Given the description of an element on the screen output the (x, y) to click on. 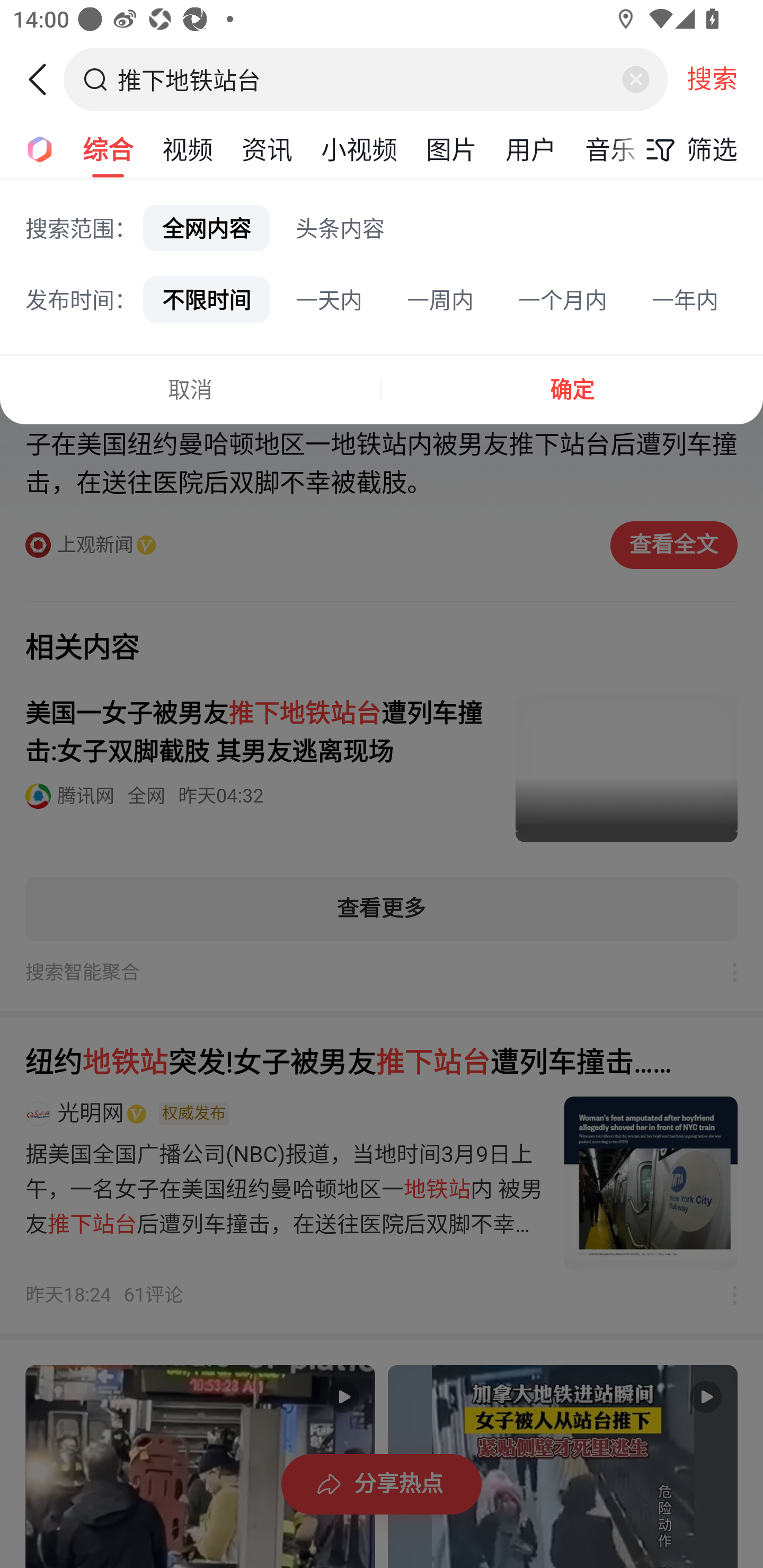
搜索框，推下地铁站台 (366, 79)
搜索 (711, 79)
返回 (44, 79)
清除 (635, 79)
视频 (187, 148)
资讯 (266, 148)
小视频 (359, 148)
图片 (451, 148)
用户 (530, 148)
音乐 (610, 148)
筛选 (686, 149)
AI问答 (34, 148)
全网内容 (206, 227)
头条内容 (339, 227)
不限时间 (206, 299)
一天内 (328, 299)
一周内 (439, 299)
一个月内 (562, 299)
一年内 (684, 299)
取消 (190, 389)
确定 (572, 389)
